Given the description of an element on the screen output the (x, y) to click on. 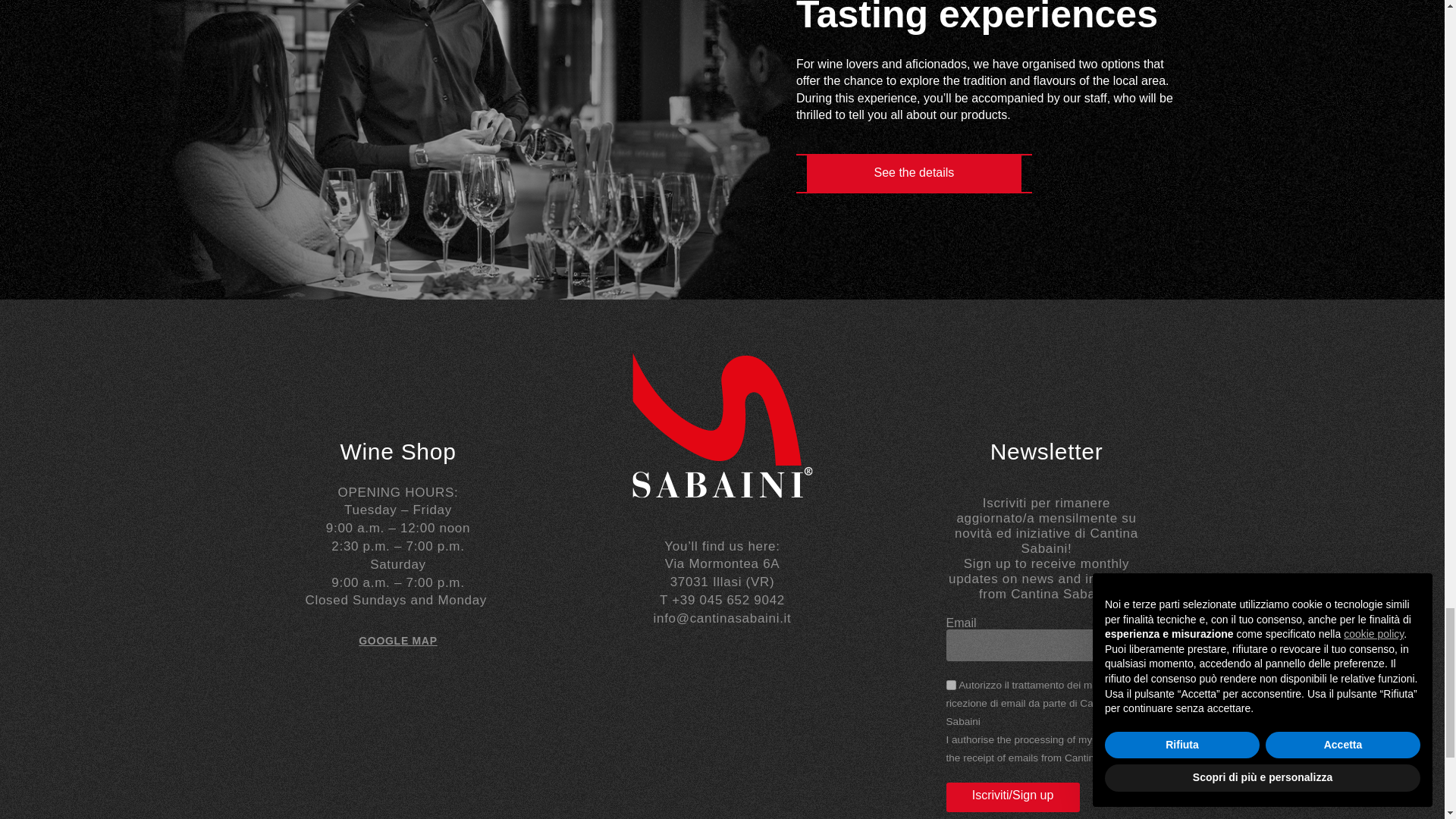
See the details (913, 172)
GOOGLE MAP (397, 640)
on (951, 685)
